Given the description of an element on the screen output the (x, y) to click on. 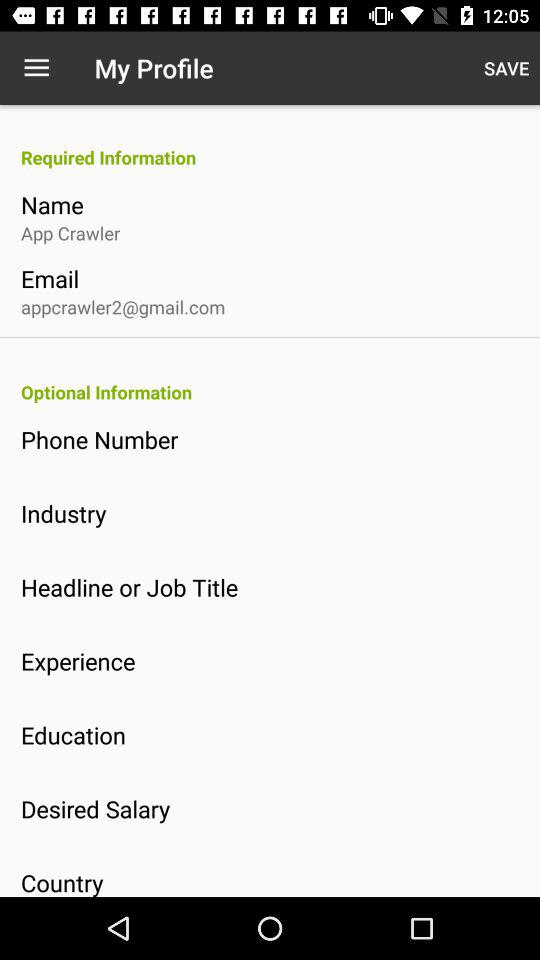
launch optional information icon (280, 391)
